Given the description of an element on the screen output the (x, y) to click on. 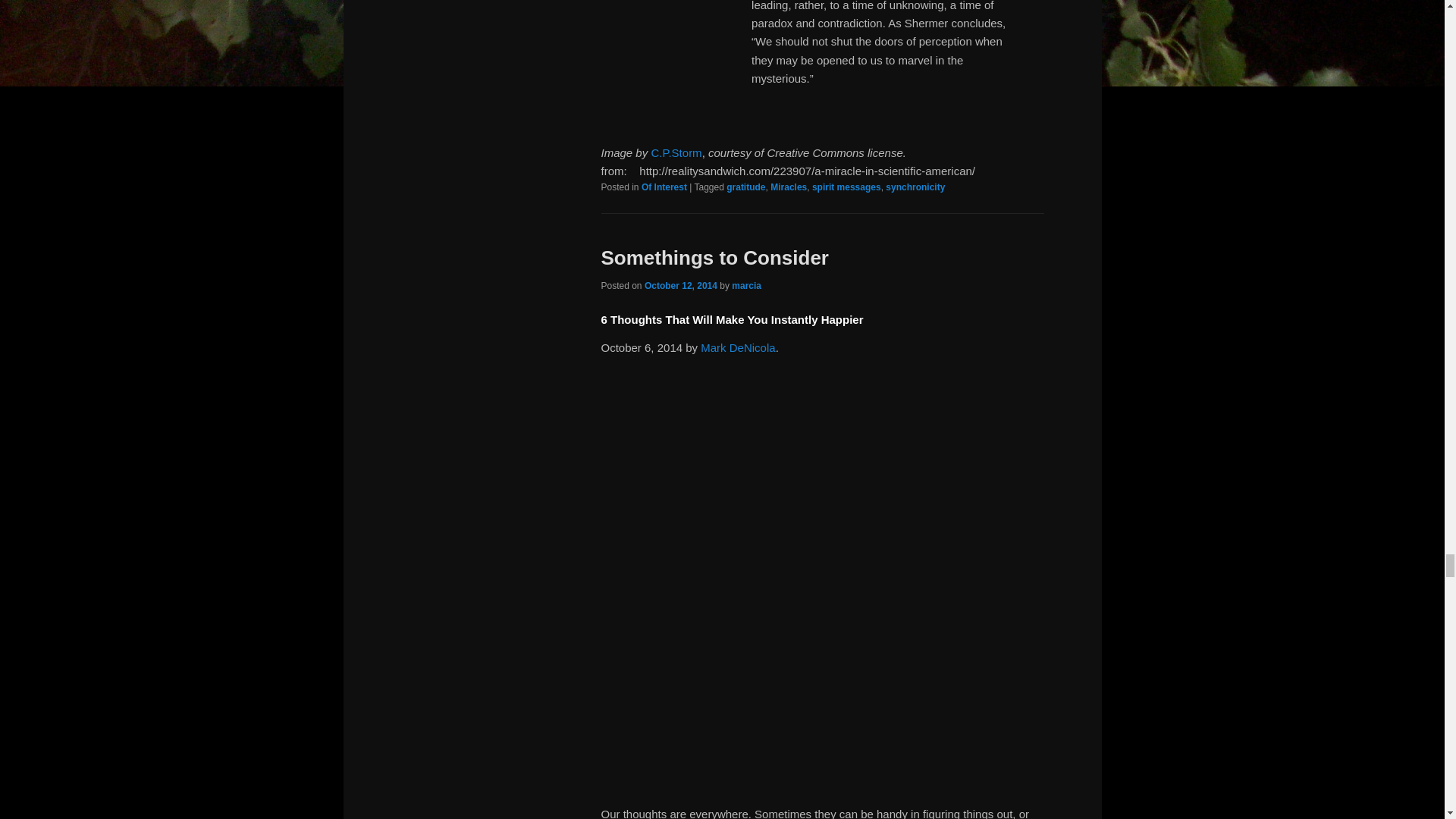
Go to C.P.Storm's photostream (675, 151)
10:13 am (681, 285)
View all posts by marcia (746, 285)
View all posts by Mark DeNicola (737, 347)
